Given the description of an element on the screen output the (x, y) to click on. 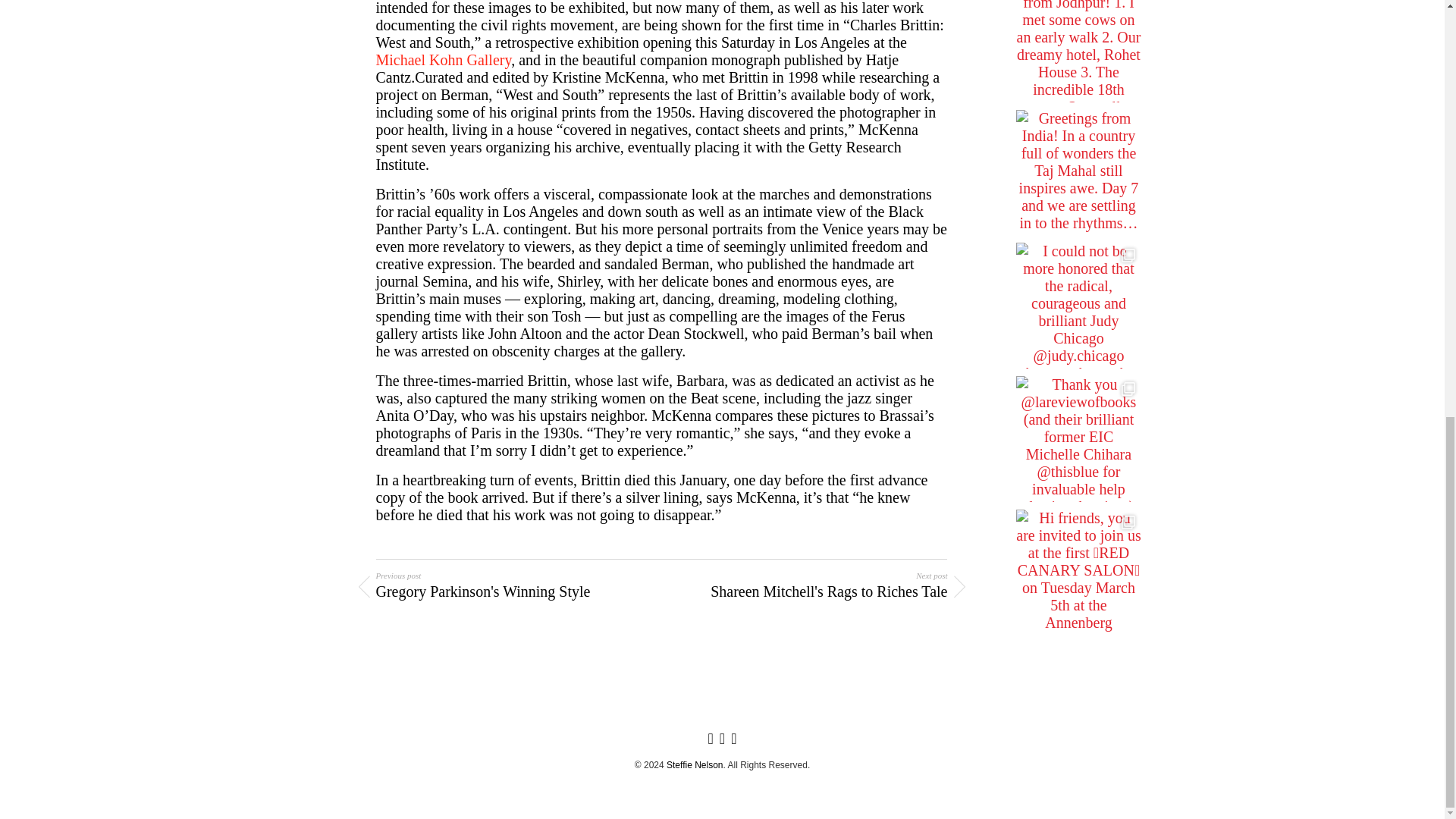
Steffie Nelson (694, 765)
Michael Kohn Gallery (443, 59)
